Given the description of an element on the screen output the (x, y) to click on. 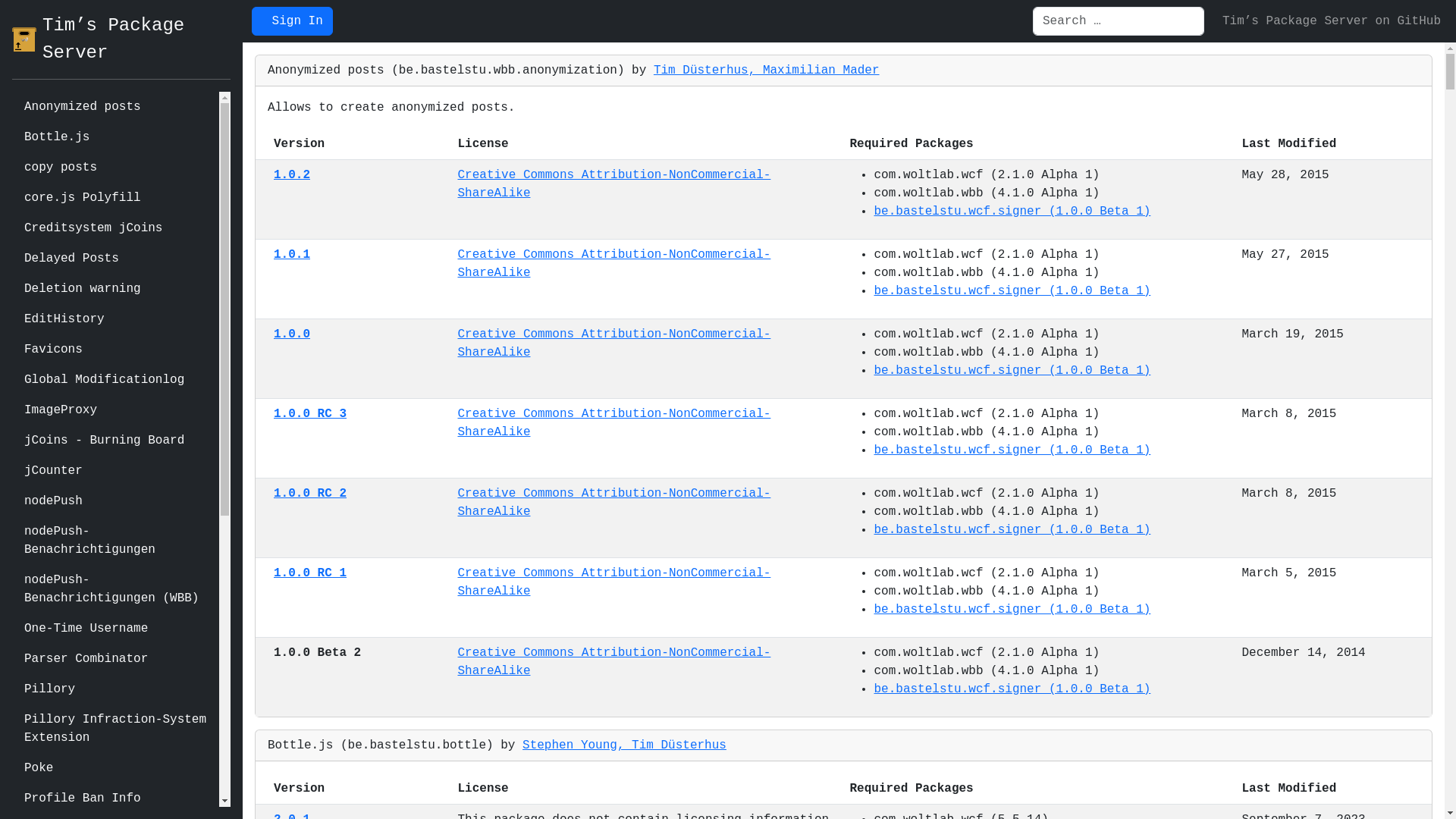
be.bastelstu.wcf.signer (1.0.0 Beta 1) Element type: text (1011, 529)
be.bastelstu.wcf.signer (1.0.0 Beta 1) Element type: text (1011, 450)
jCoins - Burning Board Element type: text (115, 440)
jCounter Element type: text (115, 470)
be.bastelstu.wcf.signer (1.0.0 Beta 1) Element type: text (1011, 689)
Creative Commons Attribution-NonCommercial-ShareAlike Element type: text (613, 423)
nodePush-Benachrichtigungen Element type: text (115, 540)
Profile Ban Info Element type: text (115, 798)
1.0.0 Element type: text (291, 334)
Creative Commons Attribution-NonCommercial-ShareAlike Element type: text (613, 502)
Creative Commons Attribution-NonCommercial-ShareAlike Element type: text (613, 184)
1.0.2 Element type: text (291, 175)
Creative Commons Attribution-NonCommercial-ShareAlike Element type: text (613, 263)
Creative Commons Attribution-NonCommercial-ShareAlike Element type: text (613, 343)
Parser Combinator Element type: text (115, 658)
nodePush Element type: text (115, 501)
Favicons Element type: text (115, 349)
1.0.0 RC 2 Element type: text (309, 493)
ImageProxy Element type: text (115, 410)
Pillory Infraction-System Extension Element type: text (115, 728)
Anonymized posts Element type: text (115, 106)
Bottle.js Element type: text (115, 137)
Pillory Element type: text (115, 689)
Creditsystem jCoins Element type: text (115, 228)
be.bastelstu.wcf.signer (1.0.0 Beta 1) Element type: text (1011, 370)
Delayed Posts Element type: text (115, 258)
One-Time Username Element type: text (115, 628)
be.bastelstu.wcf.signer (1.0.0 Beta 1) Element type: text (1011, 609)
Deletion warning Element type: text (115, 288)
nodePush-Benachrichtigungen (WBB) Element type: text (115, 588)
core.js Polyfill Element type: text (115, 197)
Poke Element type: text (115, 768)
EditHistory Element type: text (115, 319)
Creative Commons Attribution-NonCommercial-ShareAlike Element type: text (613, 582)
1.0.1 Element type: text (291, 254)
1.0.0 RC 3 Element type: text (309, 413)
Global Modificationlog Element type: text (115, 379)
1.0.0 RC 1 Element type: text (309, 573)
copy posts Element type: text (115, 167)
Creative Commons Attribution-NonCommercial-ShareAlike Element type: text (613, 661)
be.bastelstu.wcf.signer (1.0.0 Beta 1) Element type: text (1011, 291)
be.bastelstu.wcf.signer (1.0.0 Beta 1) Element type: text (1011, 211)
Sign In Element type: text (291, 20)
